Given the description of an element on the screen output the (x, y) to click on. 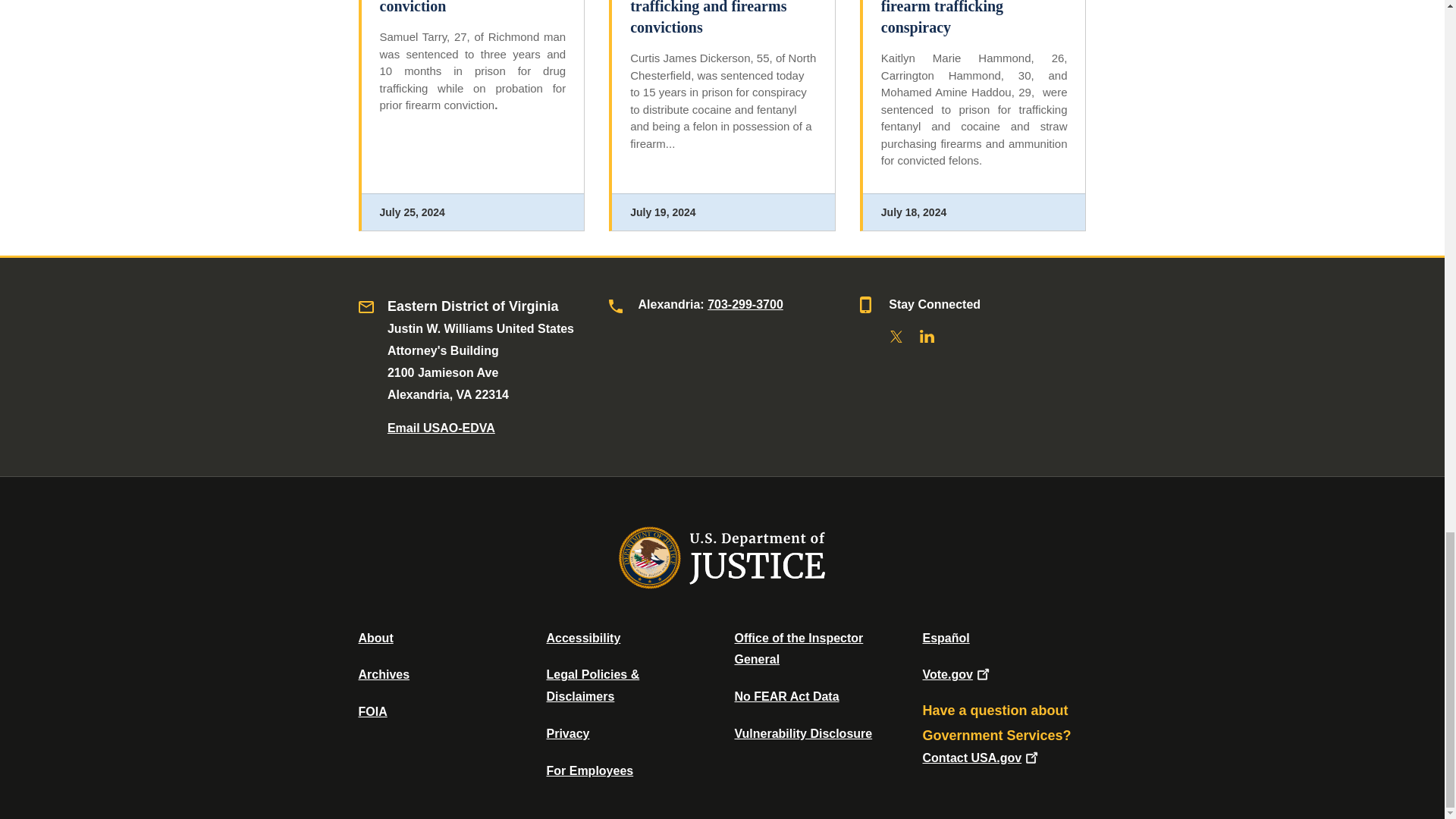
For Employees (589, 770)
Office of Information Policy (372, 711)
Department of Justice Archive (383, 674)
Legal Policies and Disclaimers (592, 685)
Accessibility Statement (583, 637)
Data Posted Pursuant To The No Fear Act (785, 696)
About DOJ (375, 637)
